Given the description of an element on the screen output the (x, y) to click on. 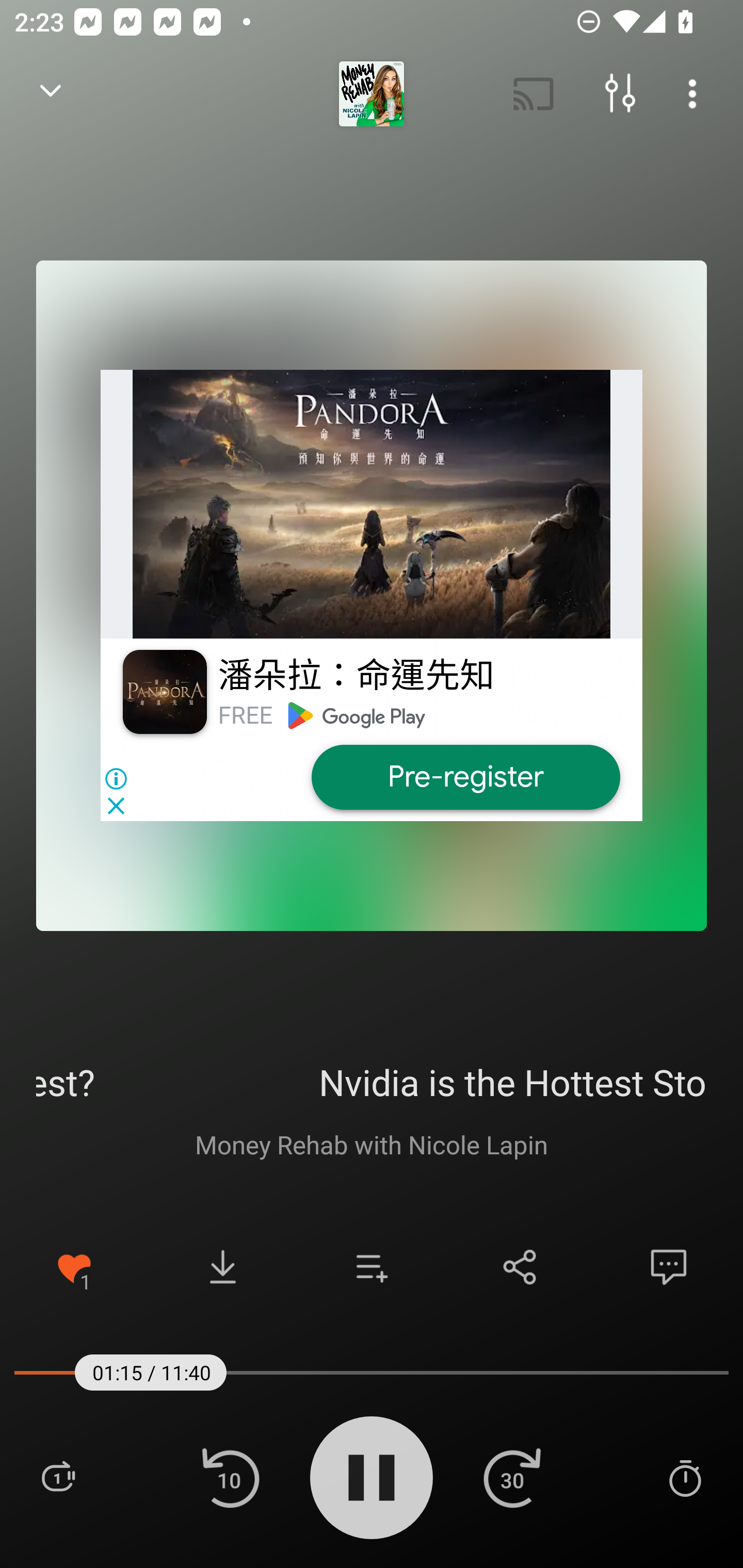
Cast. Disconnected (533, 93)
 Back (50, 94)
潘朵拉：命運先知 (355, 675)
FREE (245, 714)
Pre-register (464, 777)
Money Rehab with Nicole Lapin (371, 1144)
Comments (668, 1266)
Remove from Favorites (73, 1266)
Add to playlist (371, 1266)
Share (519, 1266)
 Playlist (57, 1477)
Sleep Timer  (684, 1477)
